Given the description of an element on the screen output the (x, y) to click on. 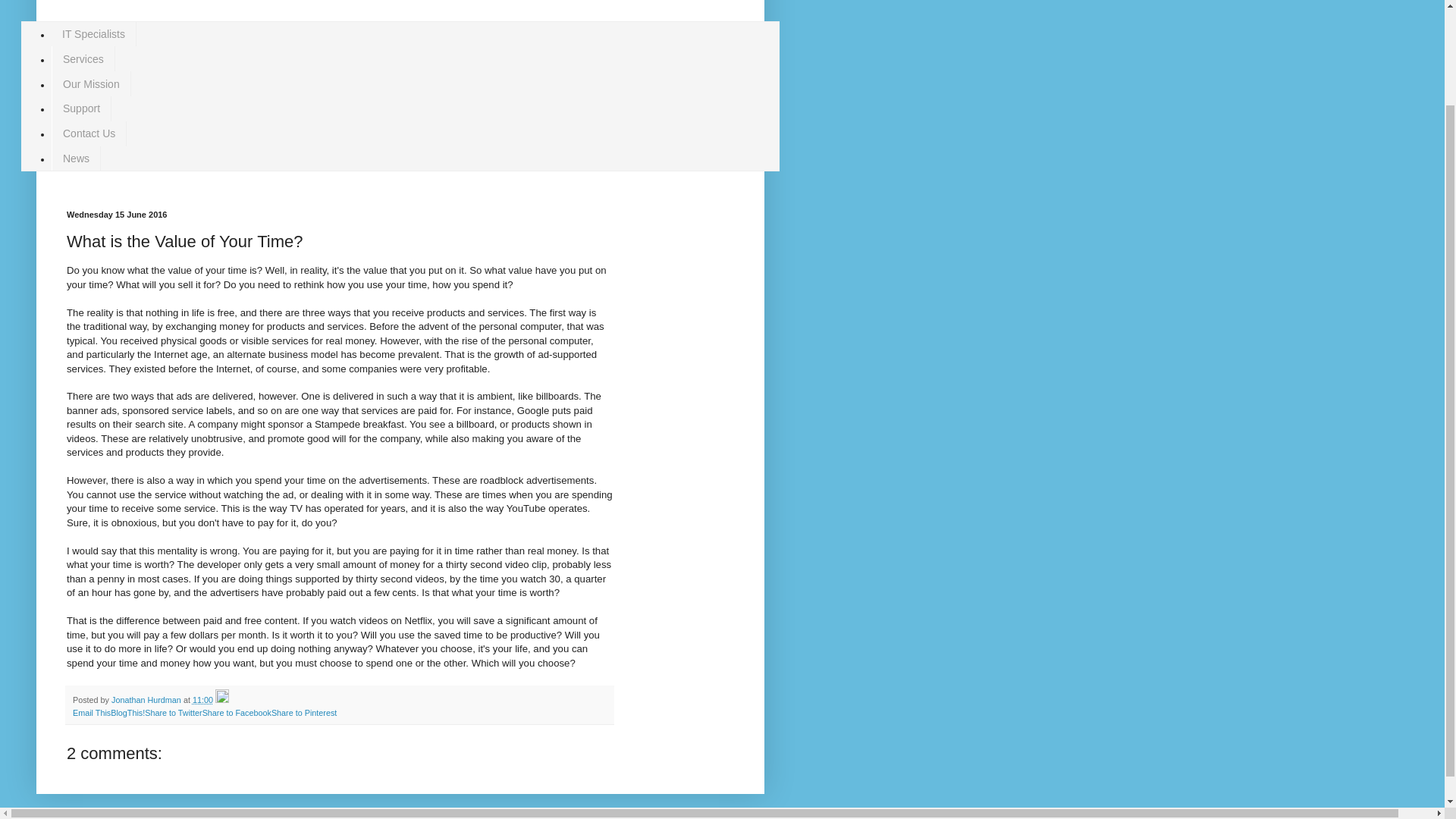
IT Specialists (93, 34)
Share to Facebook (236, 712)
BlogThis! (127, 712)
BlogThis! (127, 712)
Email This (91, 712)
Jonathan Hurdman (147, 699)
Our Mission (90, 83)
Share to Twitter (173, 712)
Share to Pinterest (303, 712)
Edit Post (221, 699)
Contact Us (88, 133)
11:00 (202, 699)
Support (81, 108)
permanent link (202, 699)
Share to Twitter (173, 712)
